Given the description of an element on the screen output the (x, y) to click on. 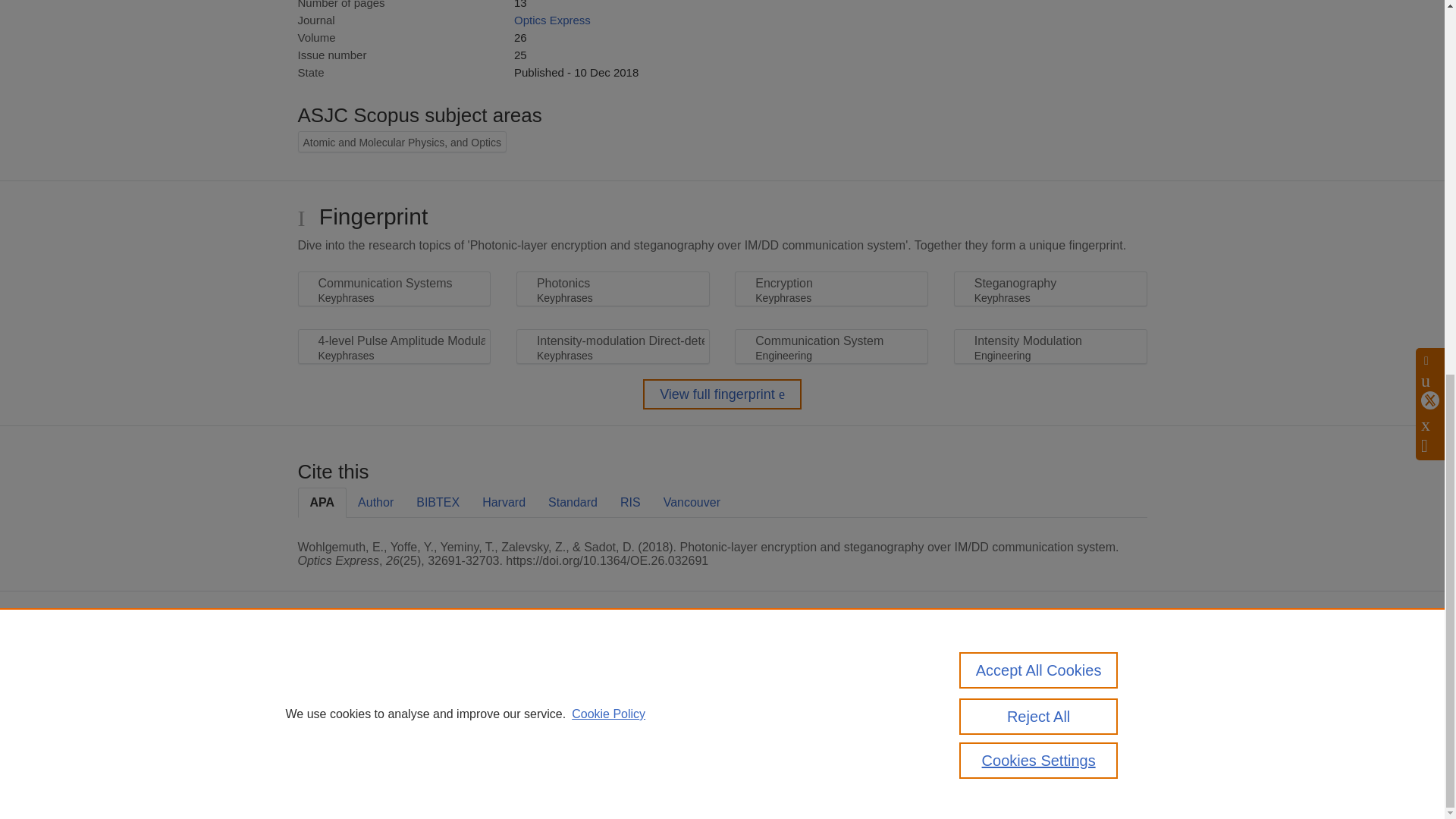
View full fingerprint (722, 394)
Pure (362, 666)
Optics Express (552, 19)
